Given the description of an element on the screen output the (x, y) to click on. 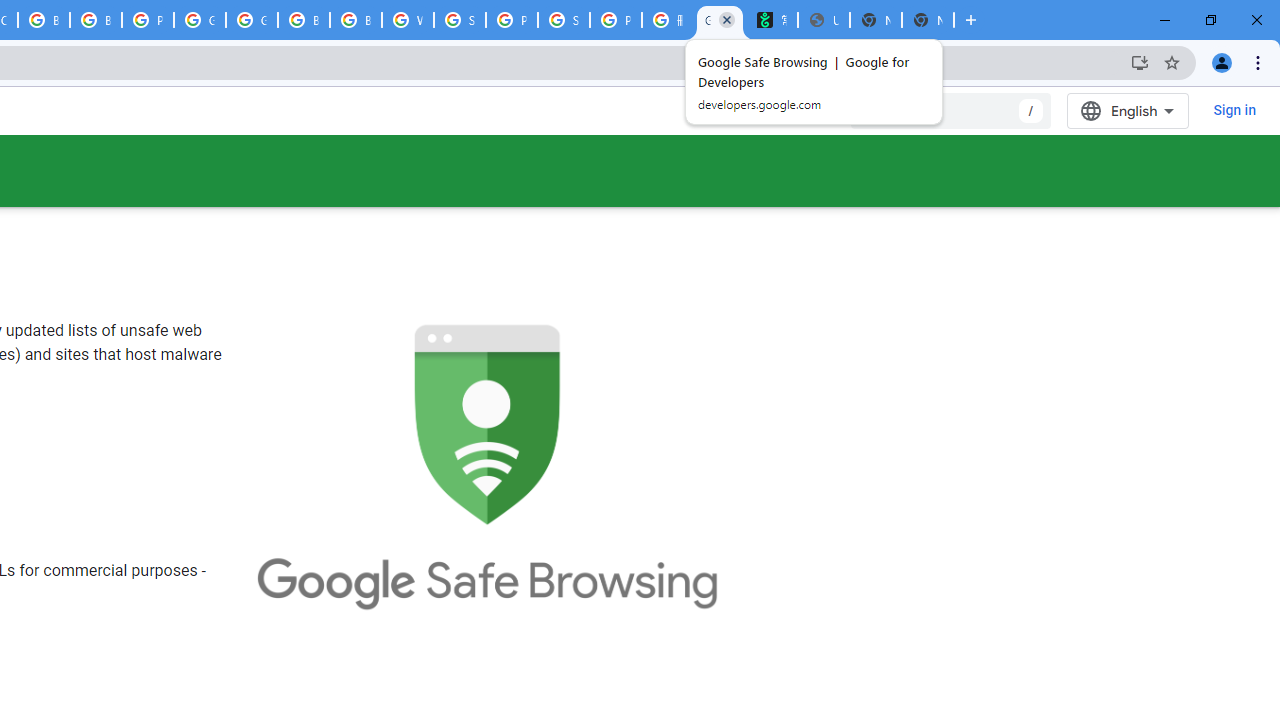
Browse Chrome as a guest - Computer - Google Chrome Help (303, 20)
Install Google Developers (1139, 62)
Untitled (823, 20)
Browse Chrome as a guest - Computer - Google Chrome Help (355, 20)
Browse Chrome as a guest - Computer - Google Chrome Help (95, 20)
